Given the description of an element on the screen output the (x, y) to click on. 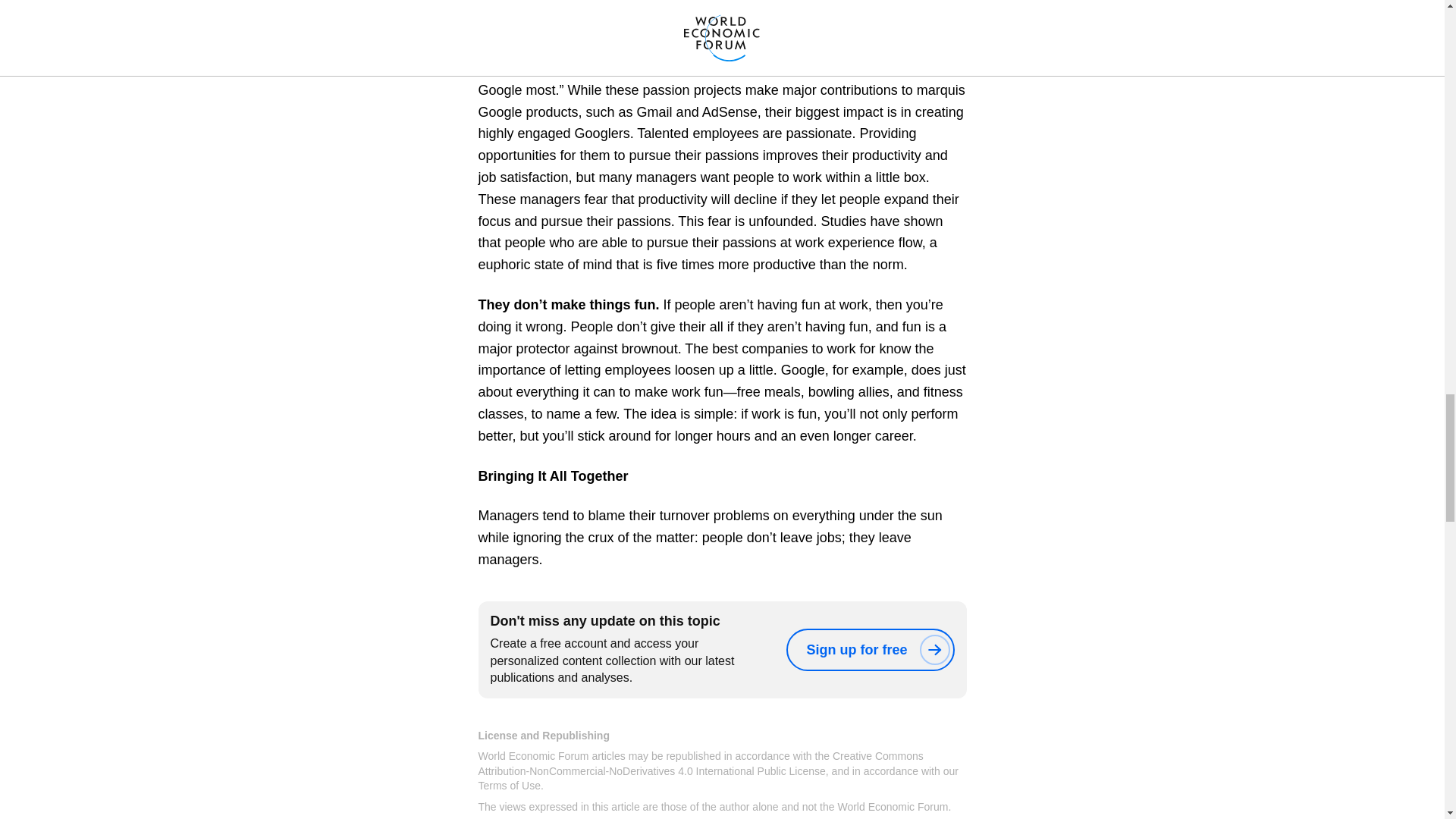
Sign up for free (869, 649)
